Given the description of an element on the screen output the (x, y) to click on. 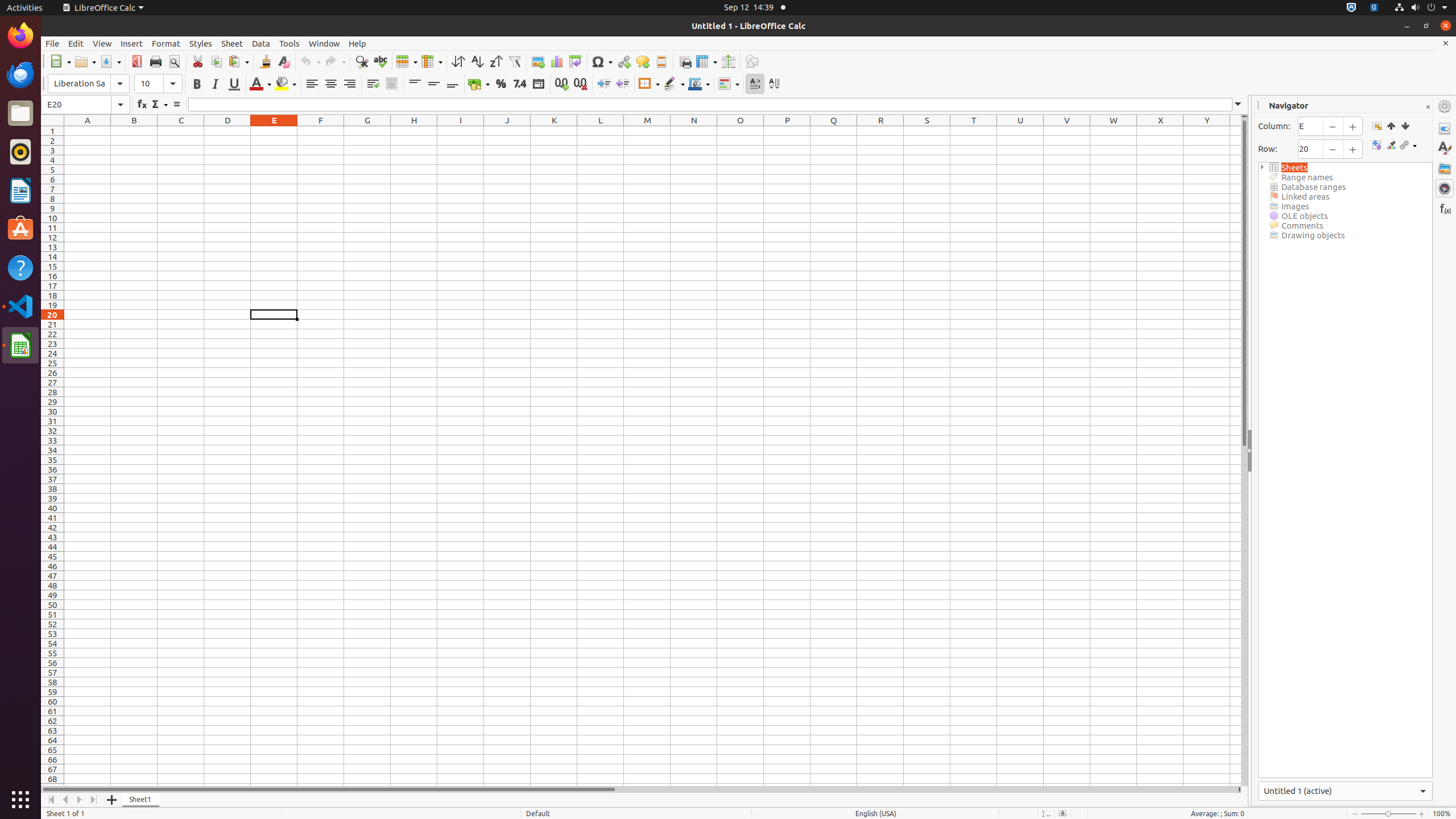
Align Bottom Element type: push-button (452, 83)
Rhythmbox Element type: push-button (20, 151)
End Element type: push-button (1404, 125)
View Element type: menu (102, 43)
Borders (Shift to overwrite) Element type: push-button (648, 83)
